Given the description of an element on the screen output the (x, y) to click on. 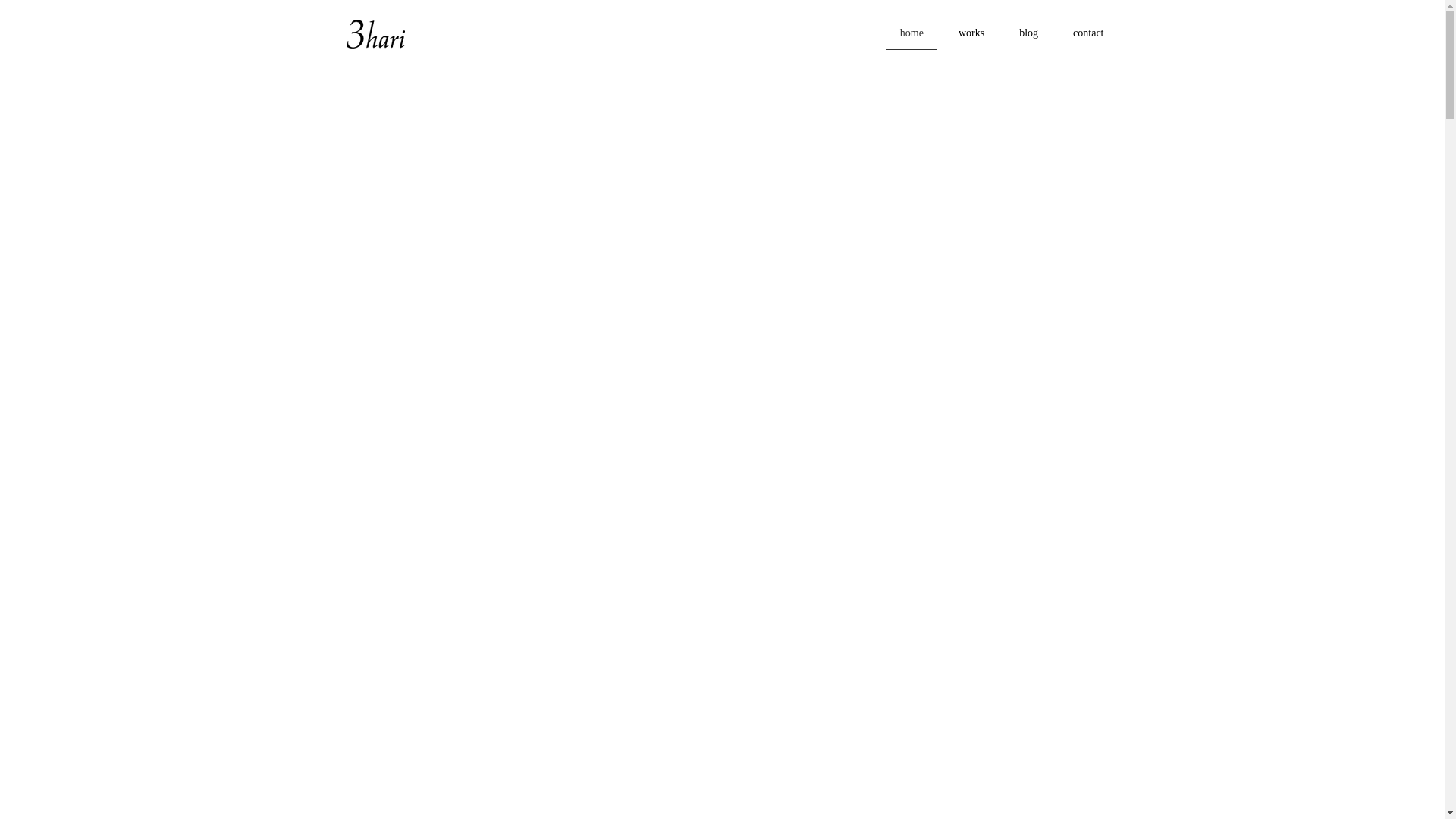
home Element type: text (911, 34)
blog Element type: text (1028, 34)
works Element type: text (970, 34)
contact Element type: text (1088, 34)
